Given the description of an element on the screen output the (x, y) to click on. 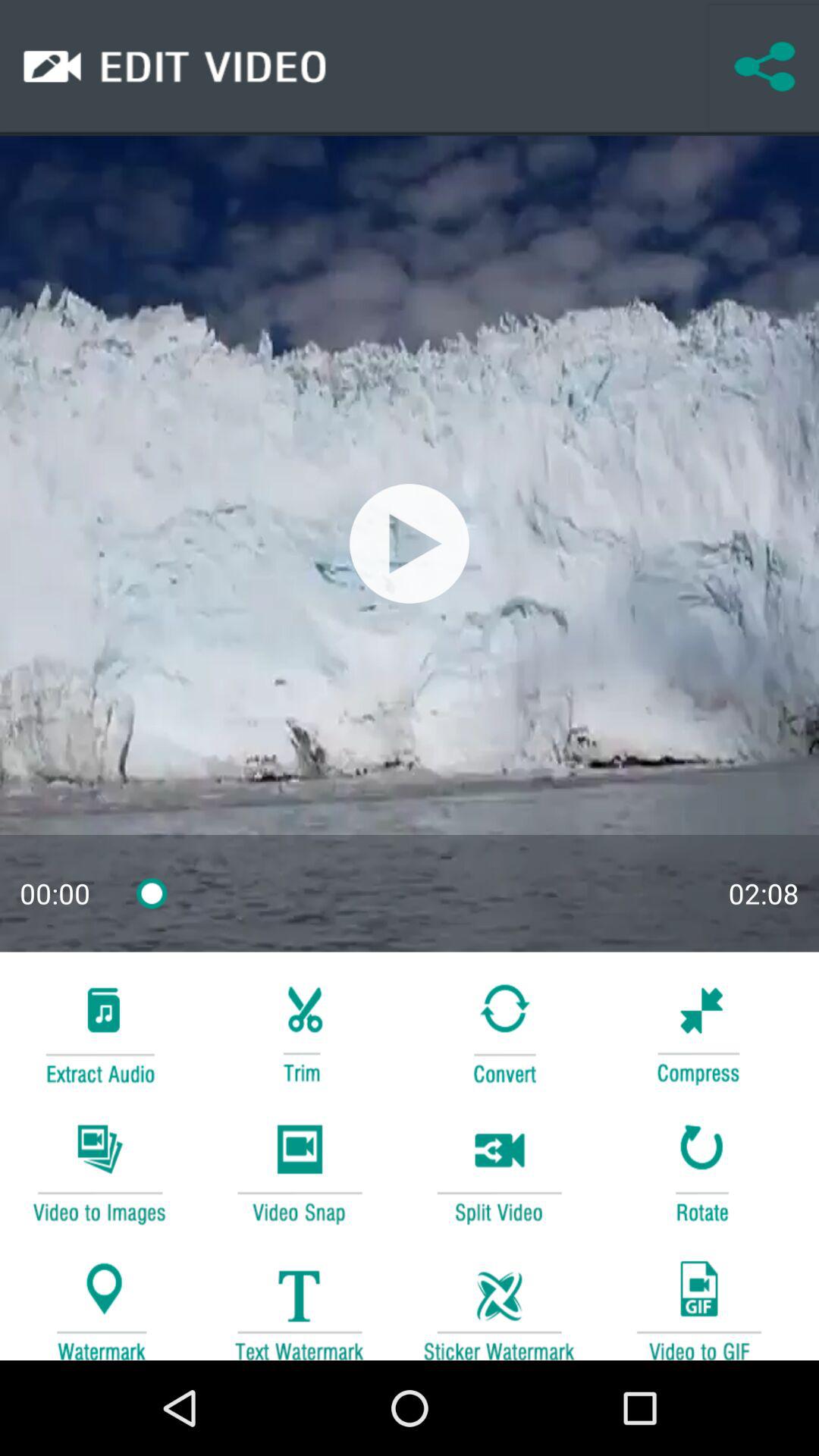
option symbol (299, 1032)
